Given the description of an element on the screen output the (x, y) to click on. 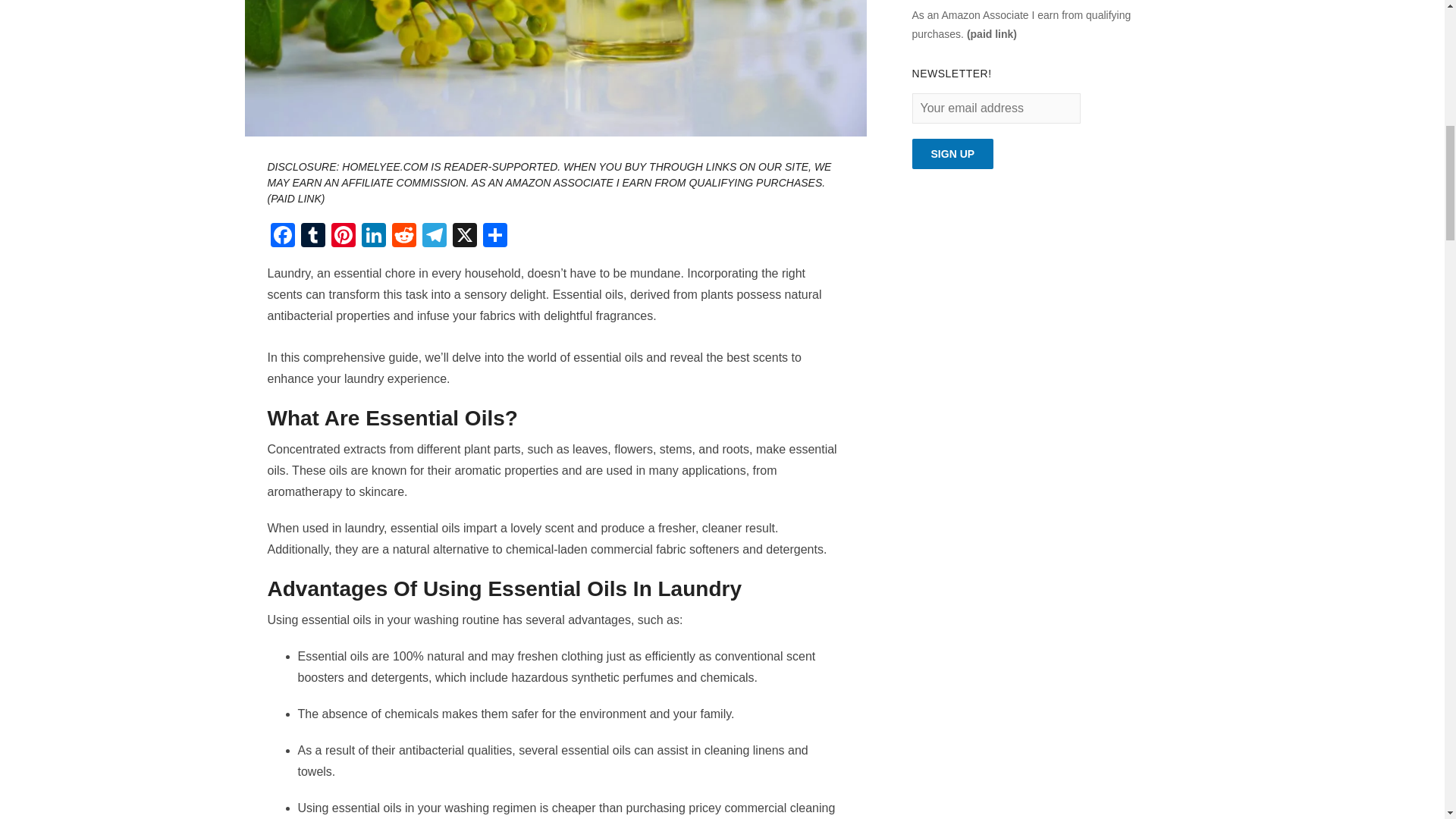
LinkedIn (373, 236)
X (463, 236)
Pinterest (342, 236)
Telegram (433, 236)
Sign up (953, 153)
The Best Essential Oil Scent for Laundry 1 (555, 68)
Telegram (433, 236)
X (463, 236)
LinkedIn (373, 236)
Reddit (403, 236)
